Given the description of an element on the screen output the (x, y) to click on. 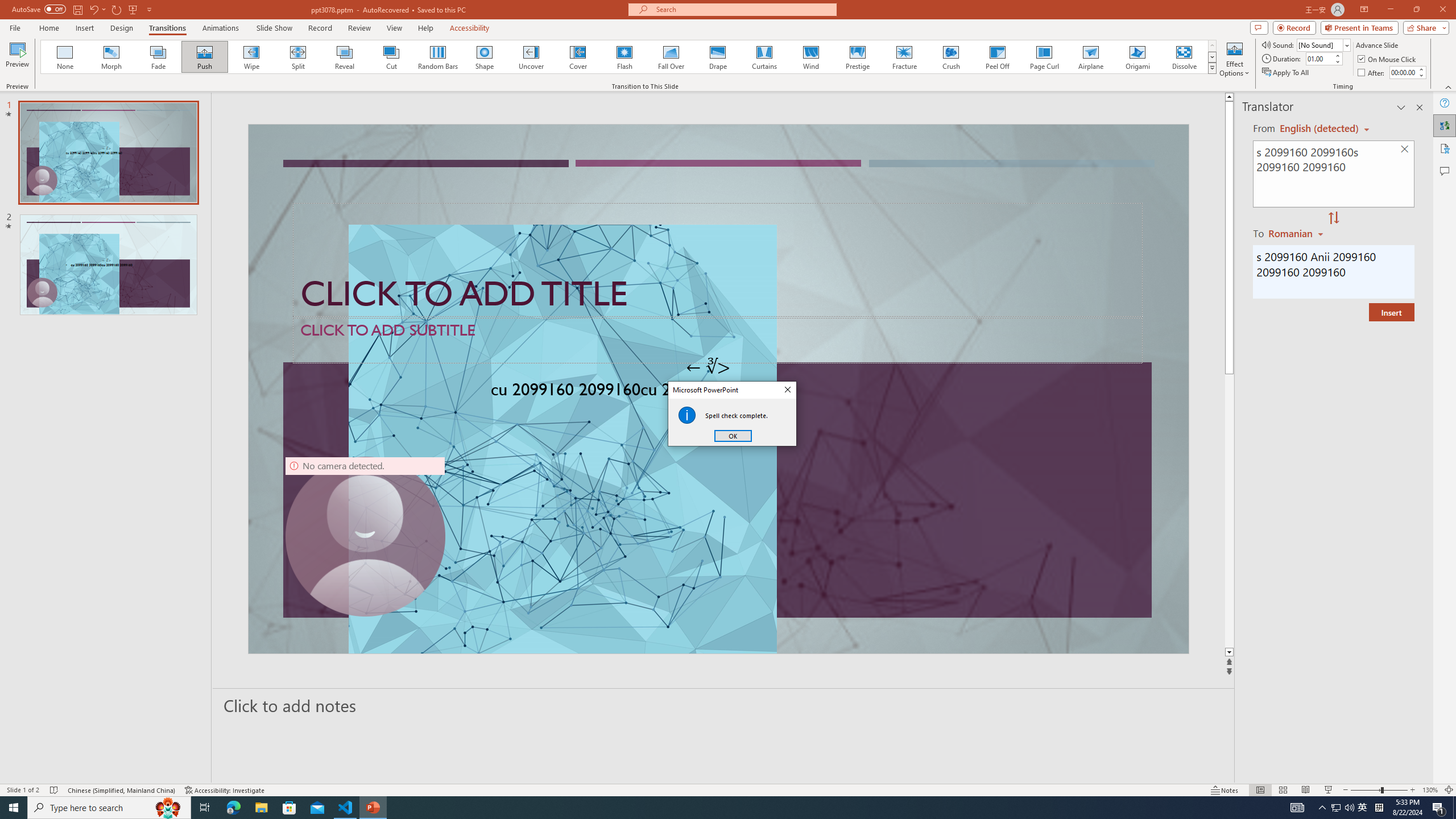
Action Center, 1 new notification (1439, 807)
Peel Off (997, 56)
After (1403, 72)
Fall Over (670, 56)
Subtitle TextBox (717, 339)
Push (205, 56)
